Given the description of an element on the screen output the (x, y) to click on. 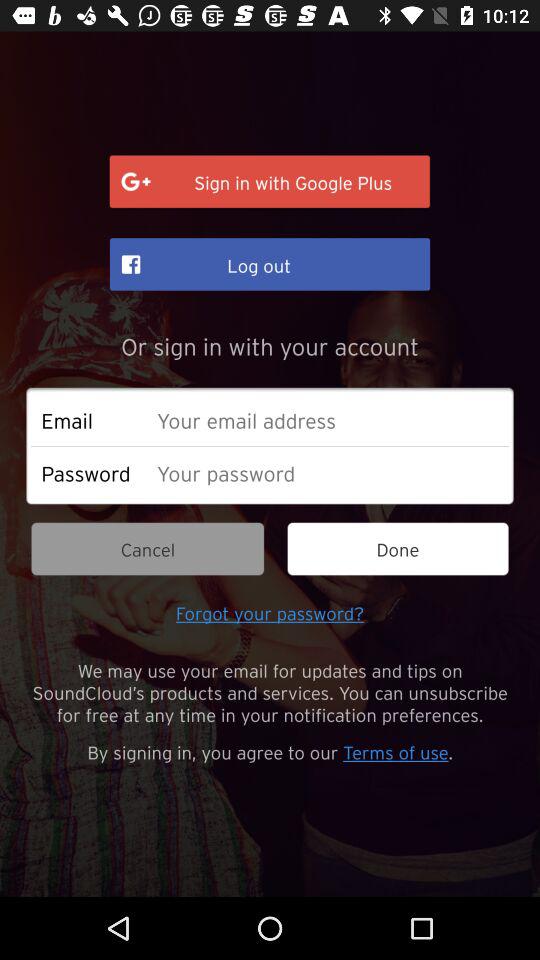
email address area (327, 420)
